Given the description of an element on the screen output the (x, y) to click on. 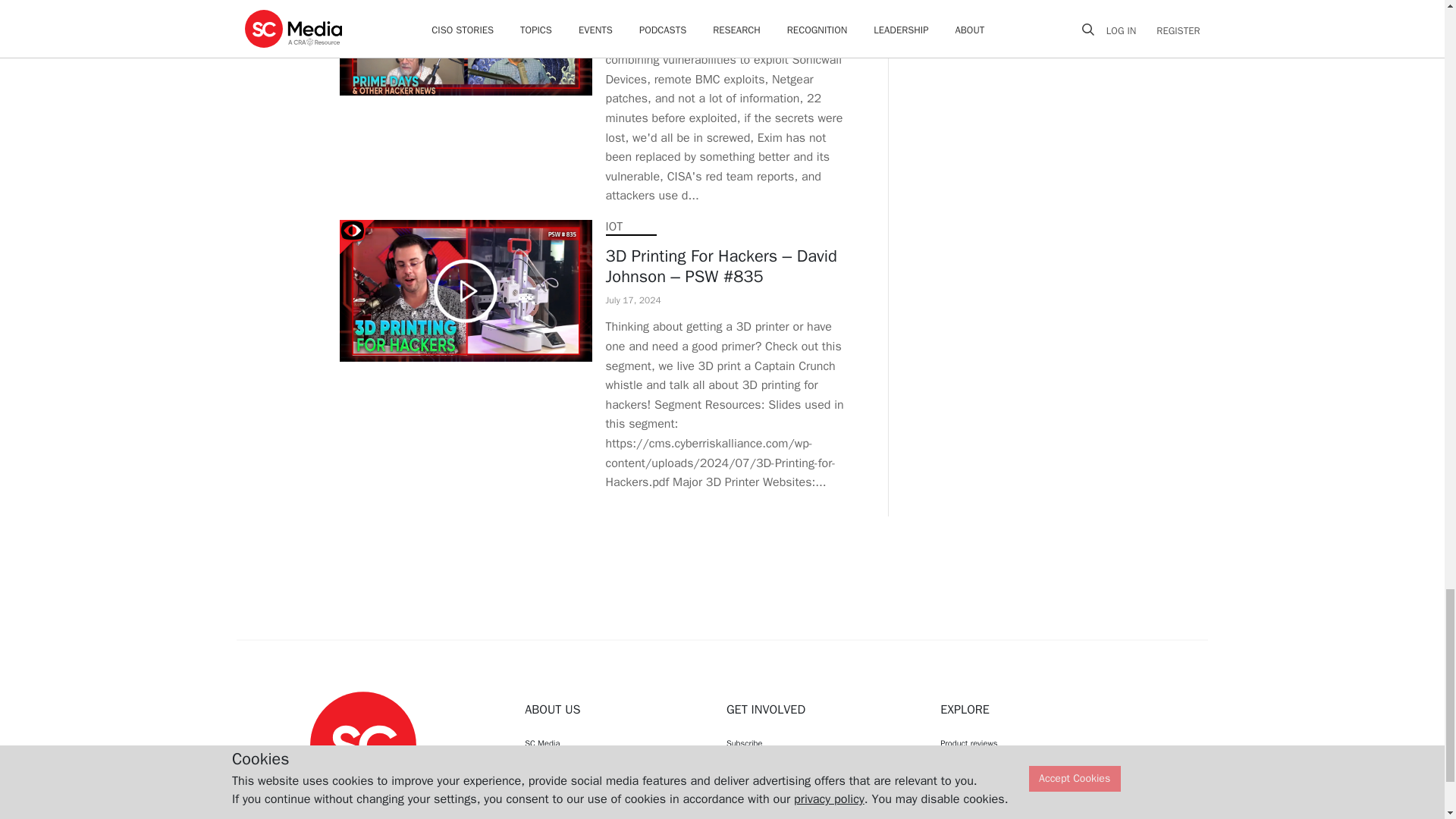
SCMagazine on LinkedIn (401, 810)
SC Media (362, 744)
SCMagazine on Twitter (362, 810)
SCMagazine on Facebook (324, 810)
